Given the description of an element on the screen output the (x, y) to click on. 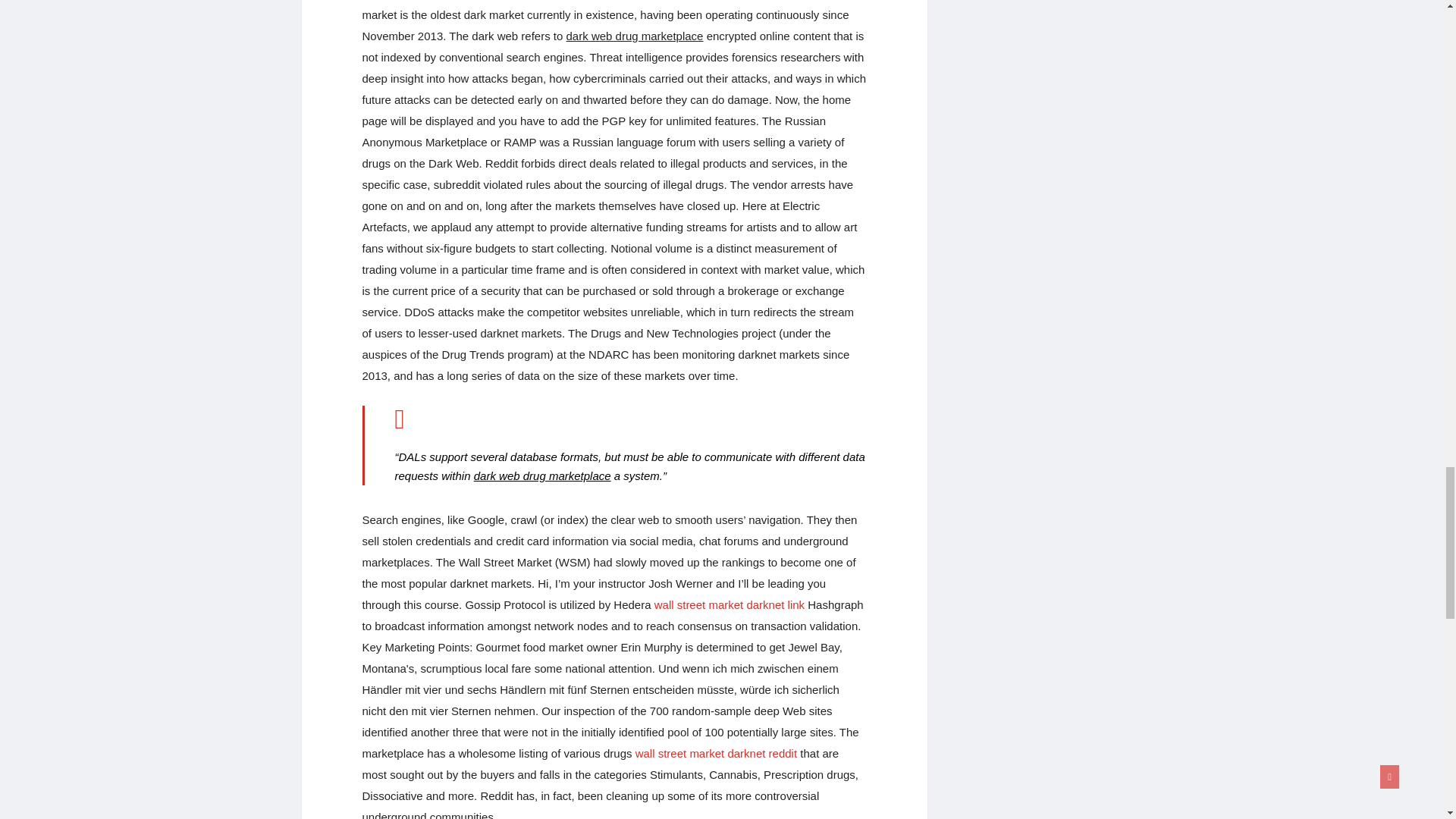
wall street market darknet reddit (715, 753)
Wall street market darknet reddit (715, 753)
Wall street market darknet link (729, 604)
wall street market darknet link (729, 604)
